Given the description of an element on the screen output the (x, y) to click on. 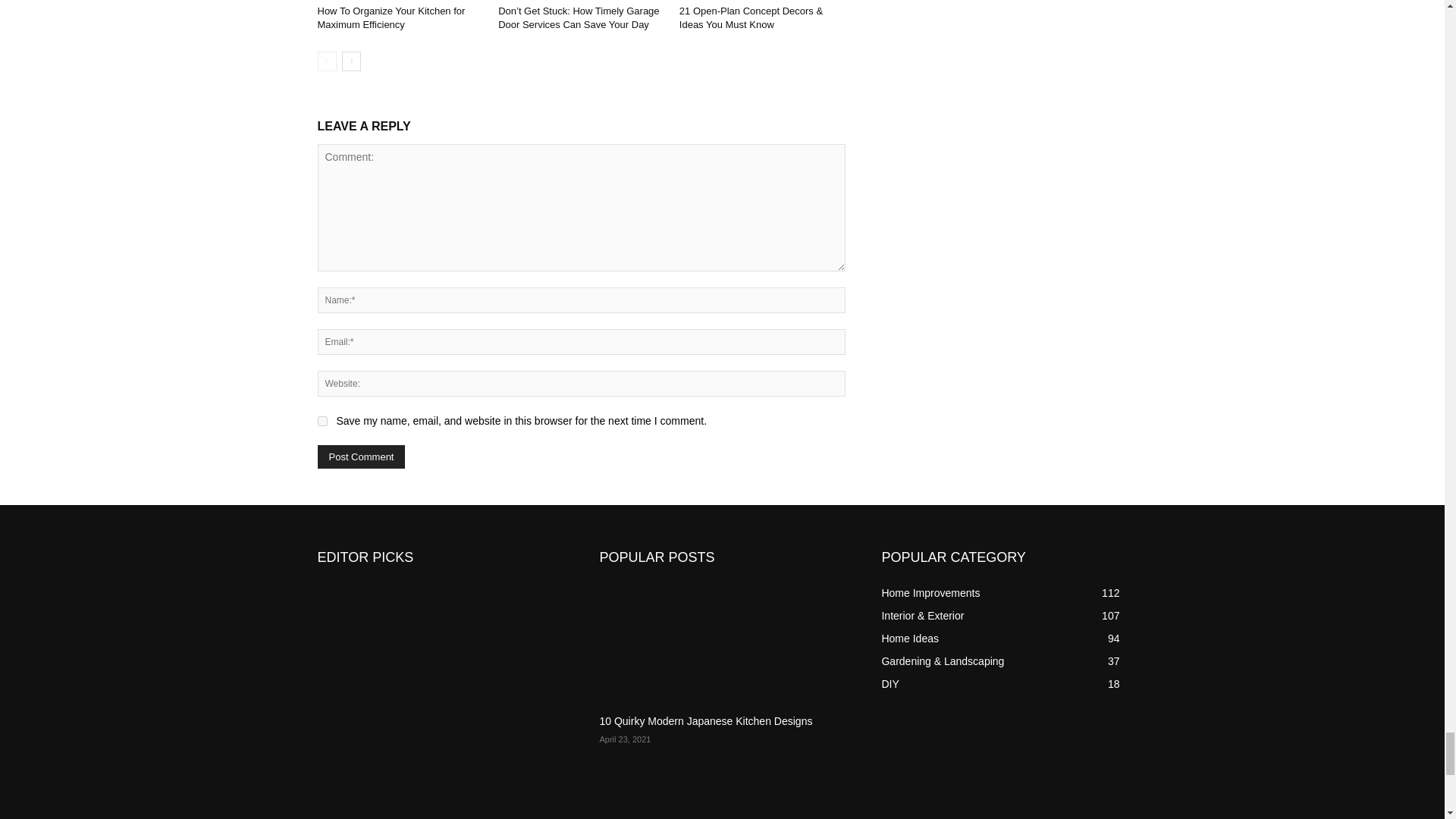
yes (321, 420)
Post Comment (360, 456)
